Given the description of an element on the screen output the (x, y) to click on. 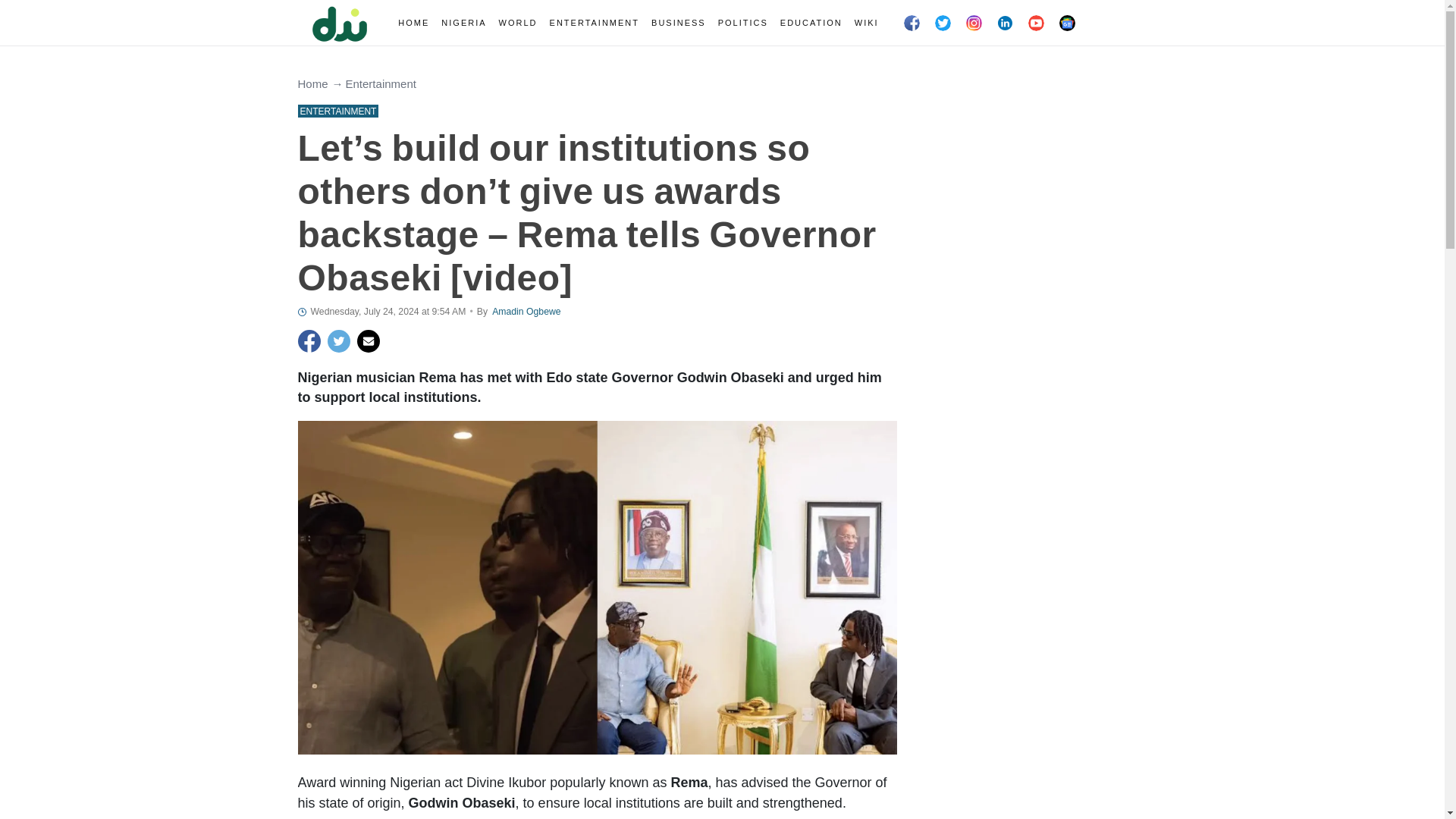
WORLD (518, 22)
Home (312, 83)
EDUCATION (811, 22)
HOME (413, 22)
ENTERTAINMENT (594, 22)
BUSINESS (678, 22)
NIGERIA (463, 22)
POLITICS (742, 22)
